Given the description of an element on the screen output the (x, y) to click on. 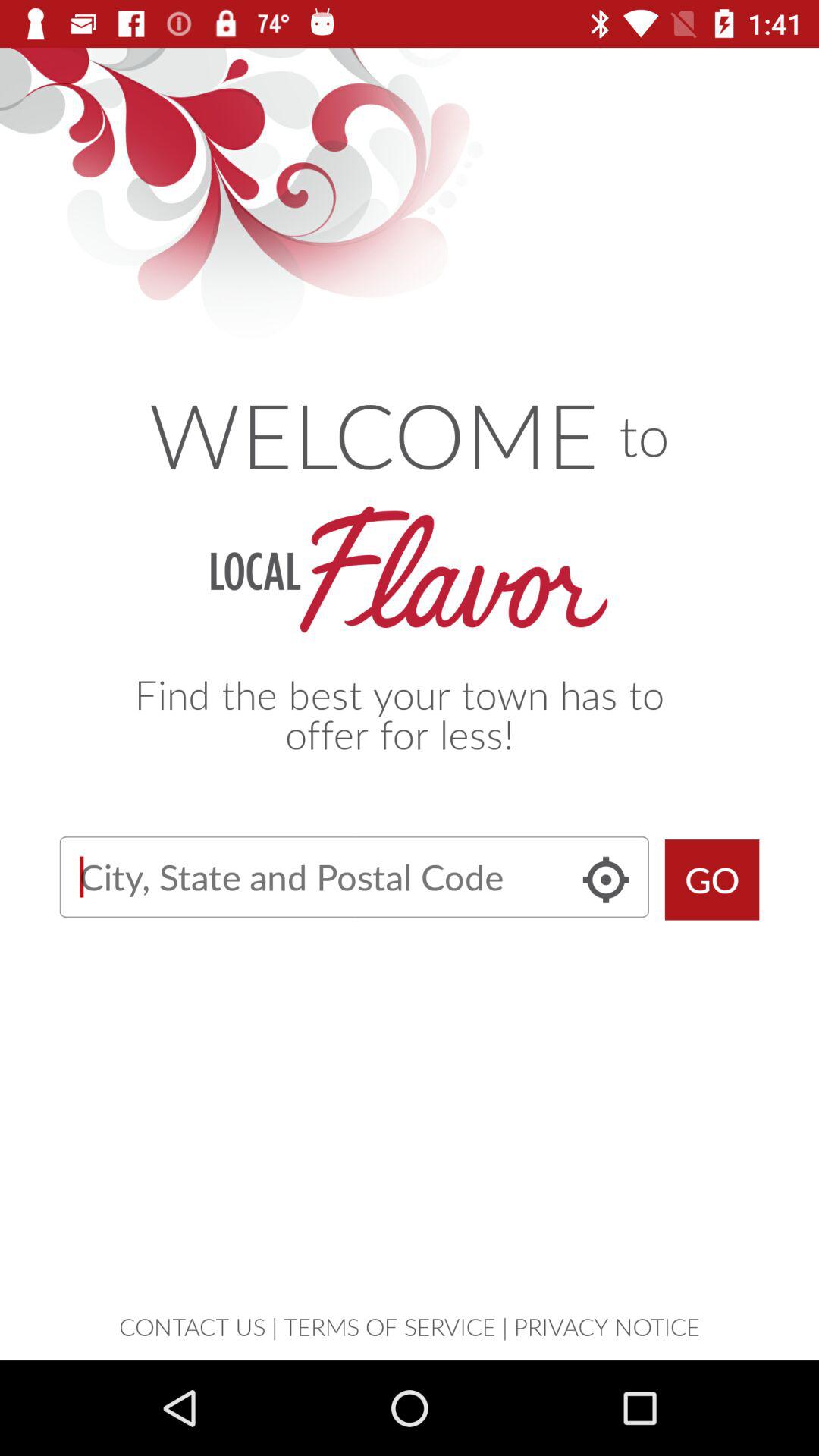
search button search for discount in user 's town (353, 876)
